Given the description of an element on the screen output the (x, y) to click on. 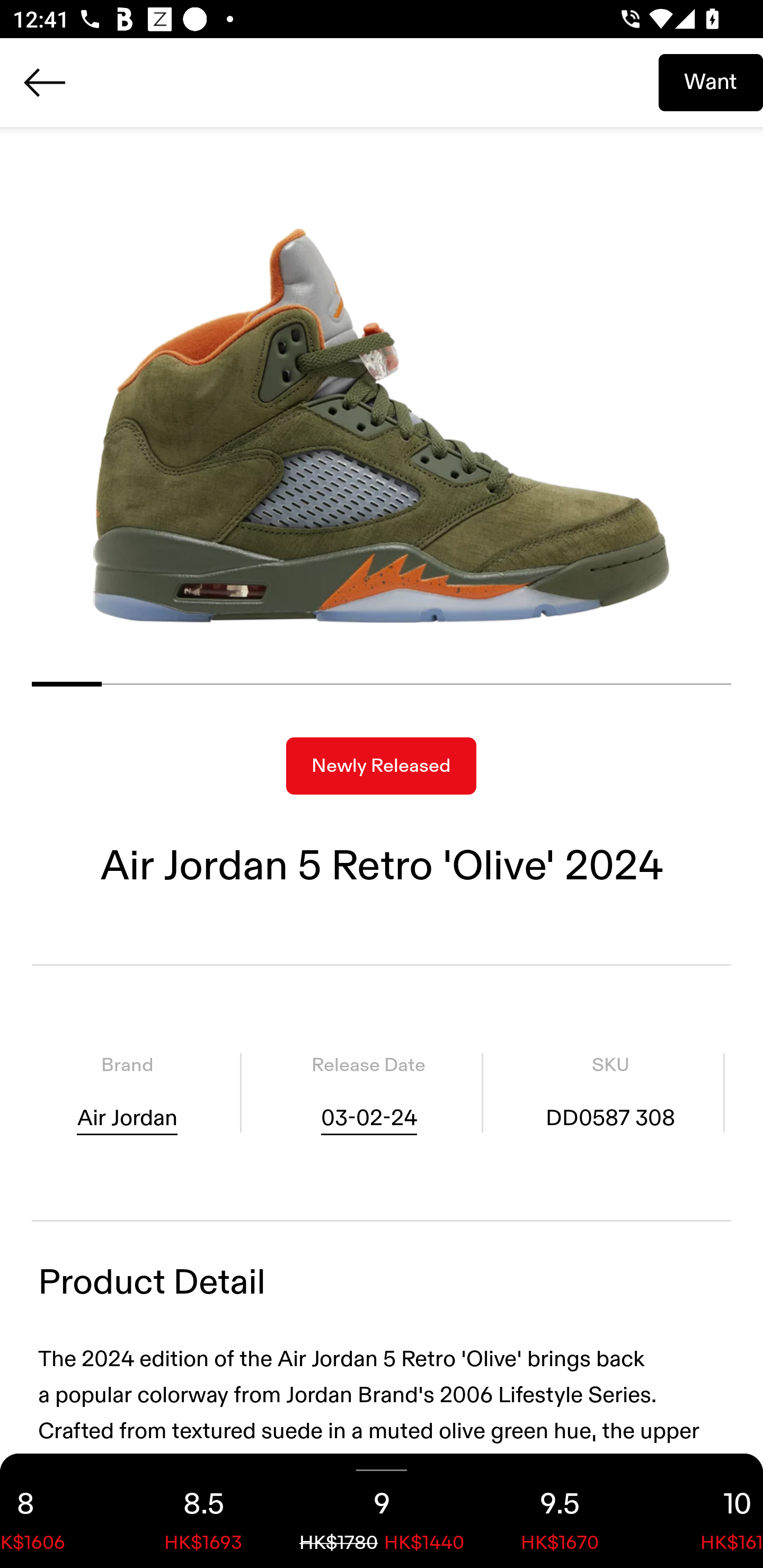
Want (710, 82)
Newly Released (381, 765)
Brand Air Jordan (126, 1092)
Release Date 03-02-24 (368, 1092)
SKU DD0587 308 (609, 1092)
8 HK$1606 (57, 1510)
8.5 HK$1693 (203, 1510)
9 HK$1780 HK$1440 (381, 1510)
9.5 HK$1670 (559, 1510)
10 HK$1614 (705, 1510)
